Given the description of an element on the screen output the (x, y) to click on. 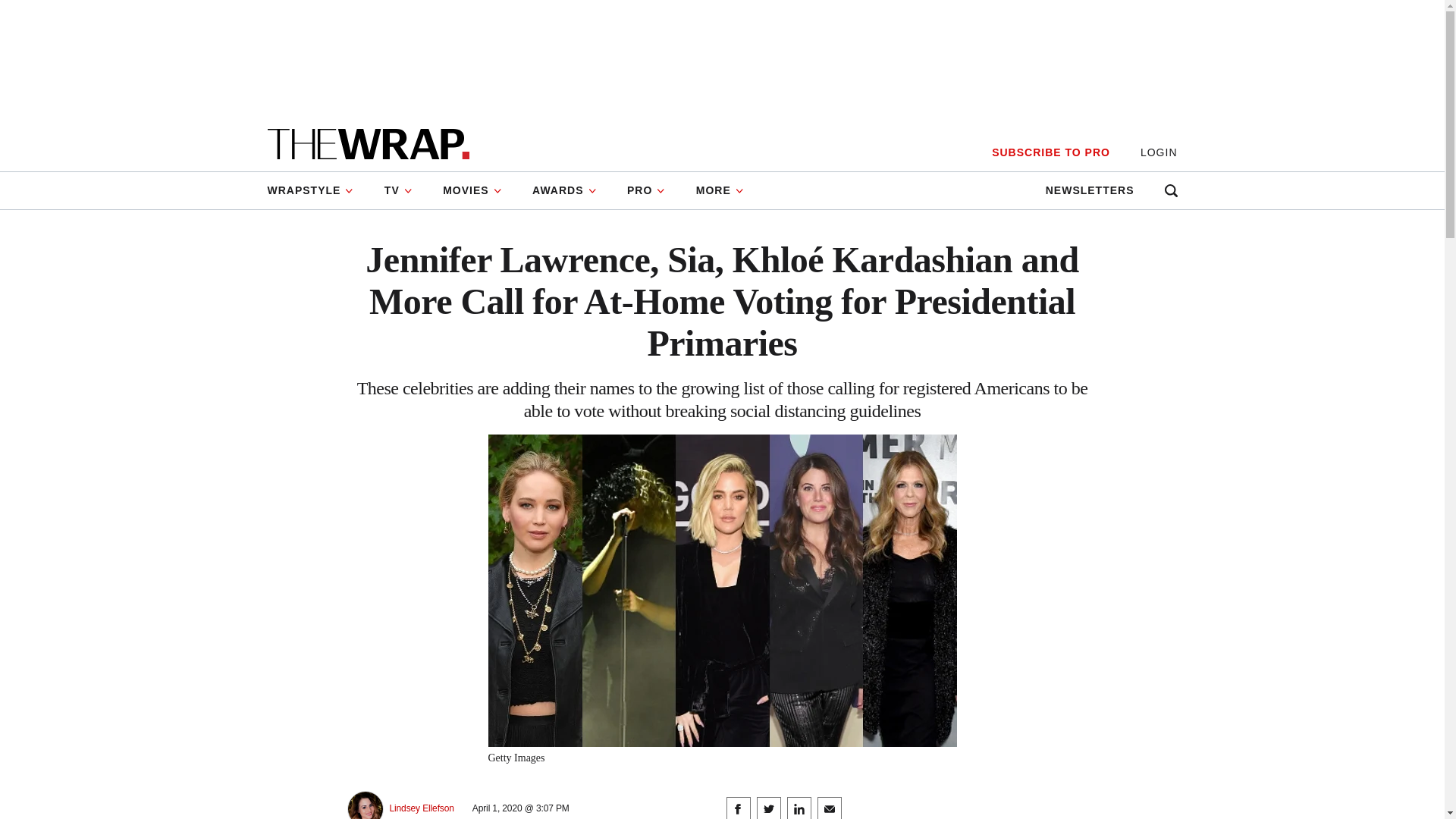
LOGIN (1158, 152)
WRAPSTYLE (317, 190)
SUBSCRIBE TO PRO (1050, 152)
MOVIES (472, 190)
PRO (646, 190)
AWARDS (563, 190)
MORE (719, 190)
Posts by Lindsey Ellefson (422, 808)
TV (398, 190)
